Given the description of an element on the screen output the (x, y) to click on. 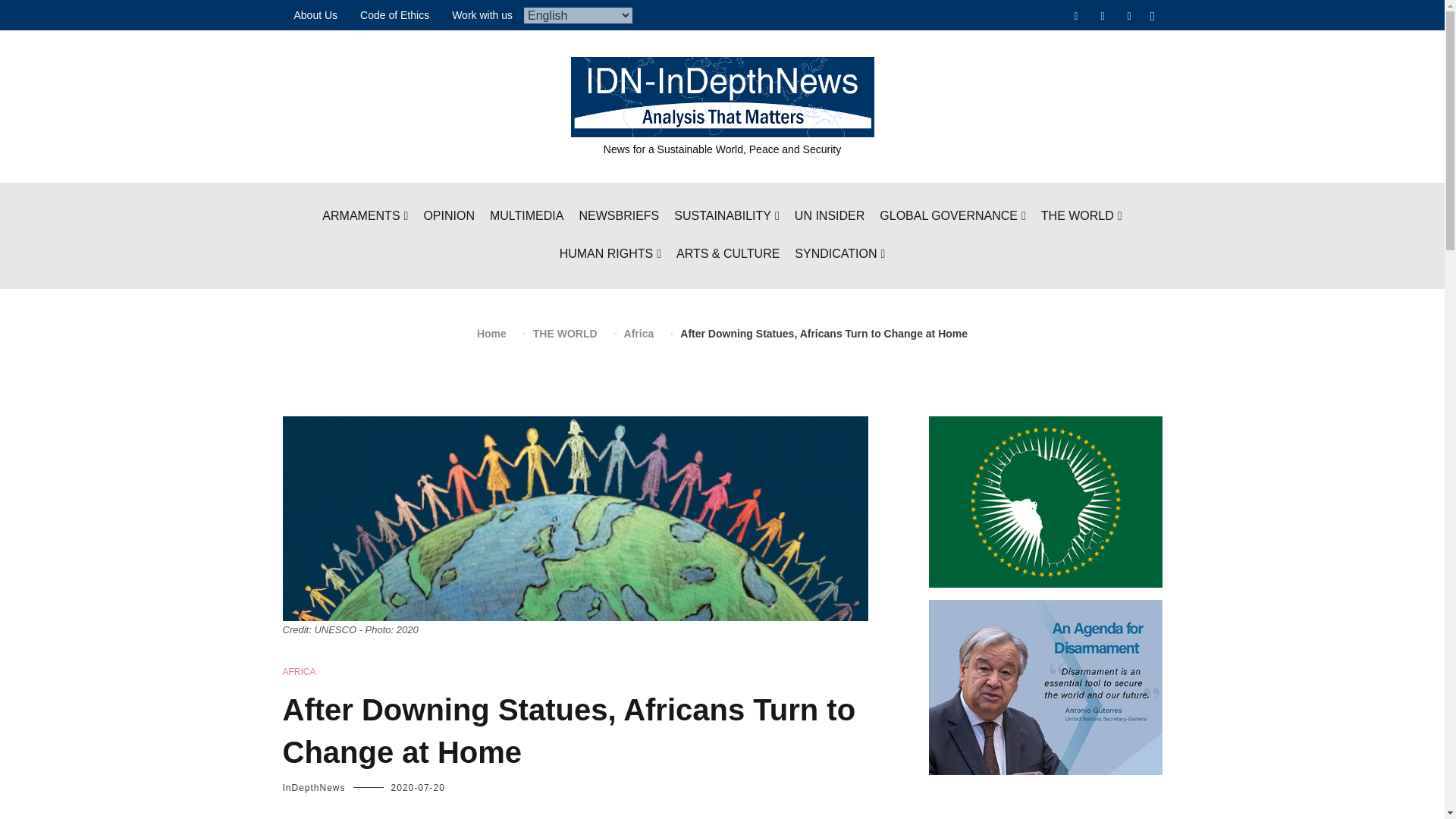
OPINION (448, 216)
SUSTAINABILITY (726, 216)
Work with us (482, 14)
Code of Ethics (395, 14)
MULTIMEDIA (526, 216)
ARMAMENTS (364, 216)
NEWSBRIEFS (618, 216)
About Us (315, 14)
UN INSIDER (829, 216)
GLOBAL GOVERNANCE (952, 216)
